Given the description of an element on the screen output the (x, y) to click on. 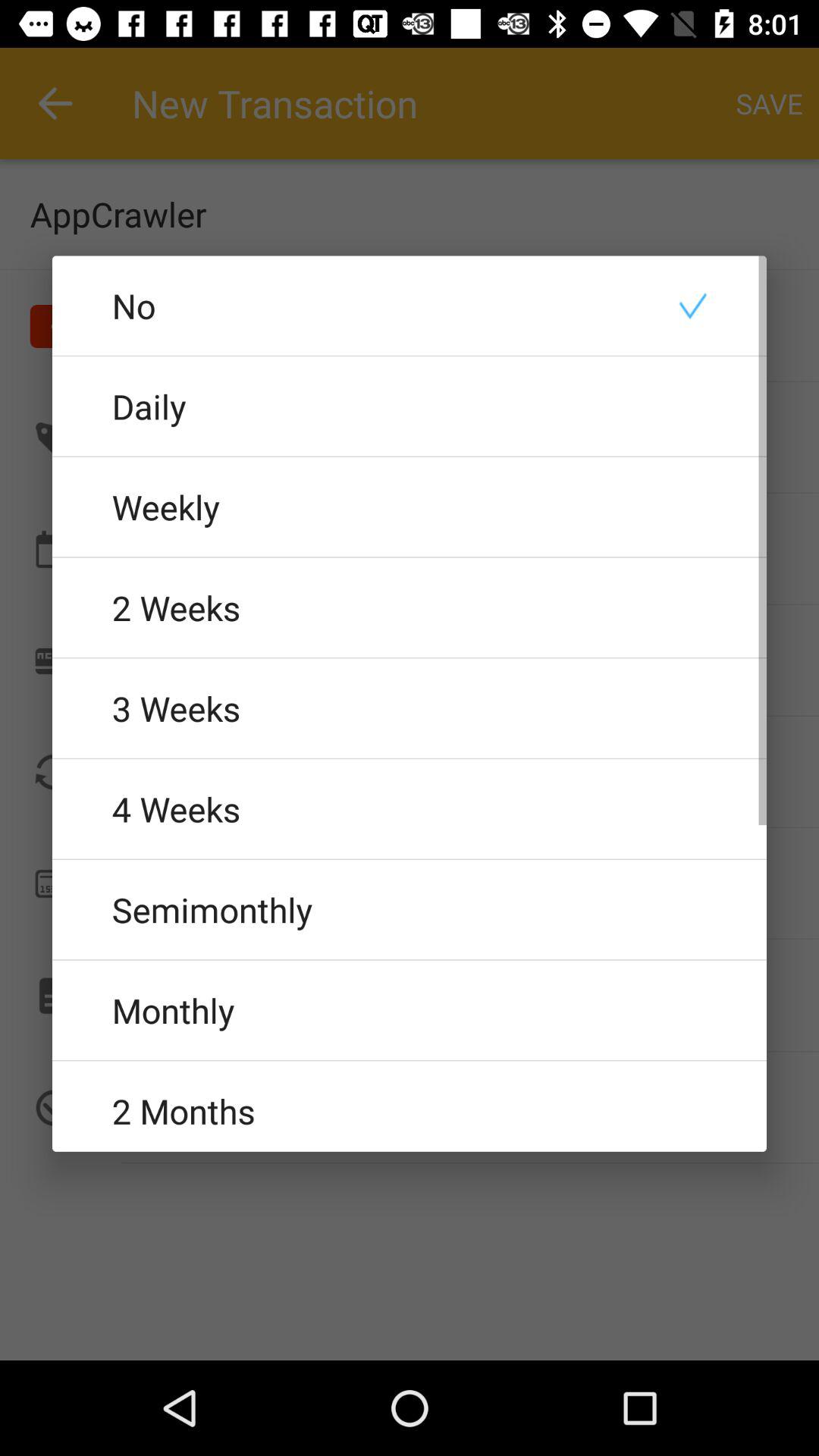
flip until the 2 weeks radio button (409, 607)
